Given the description of an element on the screen output the (x, y) to click on. 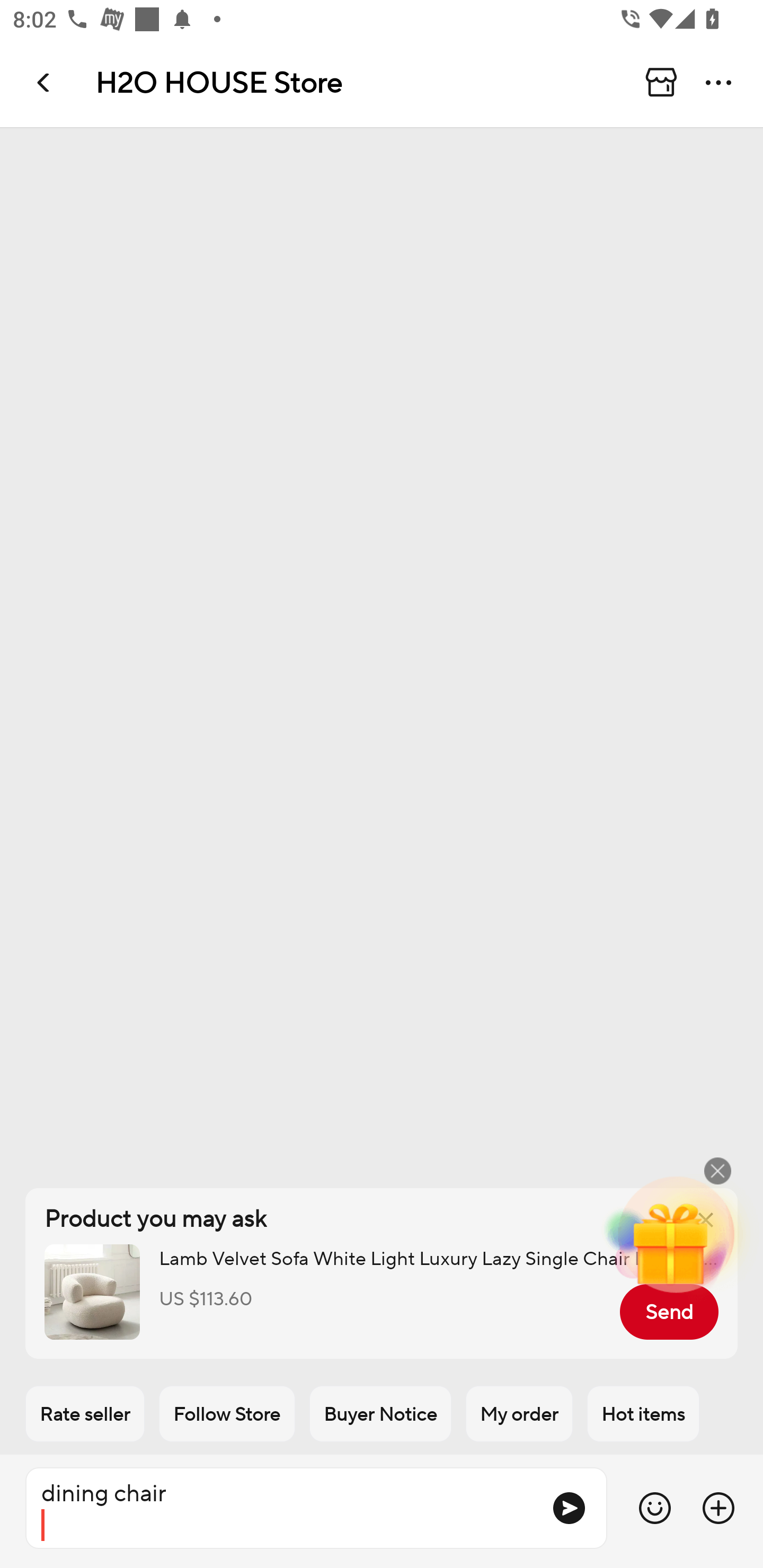
Navigate up (44, 82)
Send (668, 1311)
Rate seller (84, 1414)
Follow Store (226, 1414)
Buyer Notice (380, 1414)
My order (519, 1414)
Hot items (642, 1414)
dining chair
 (281, 1508)
